Given the description of an element on the screen output the (x, y) to click on. 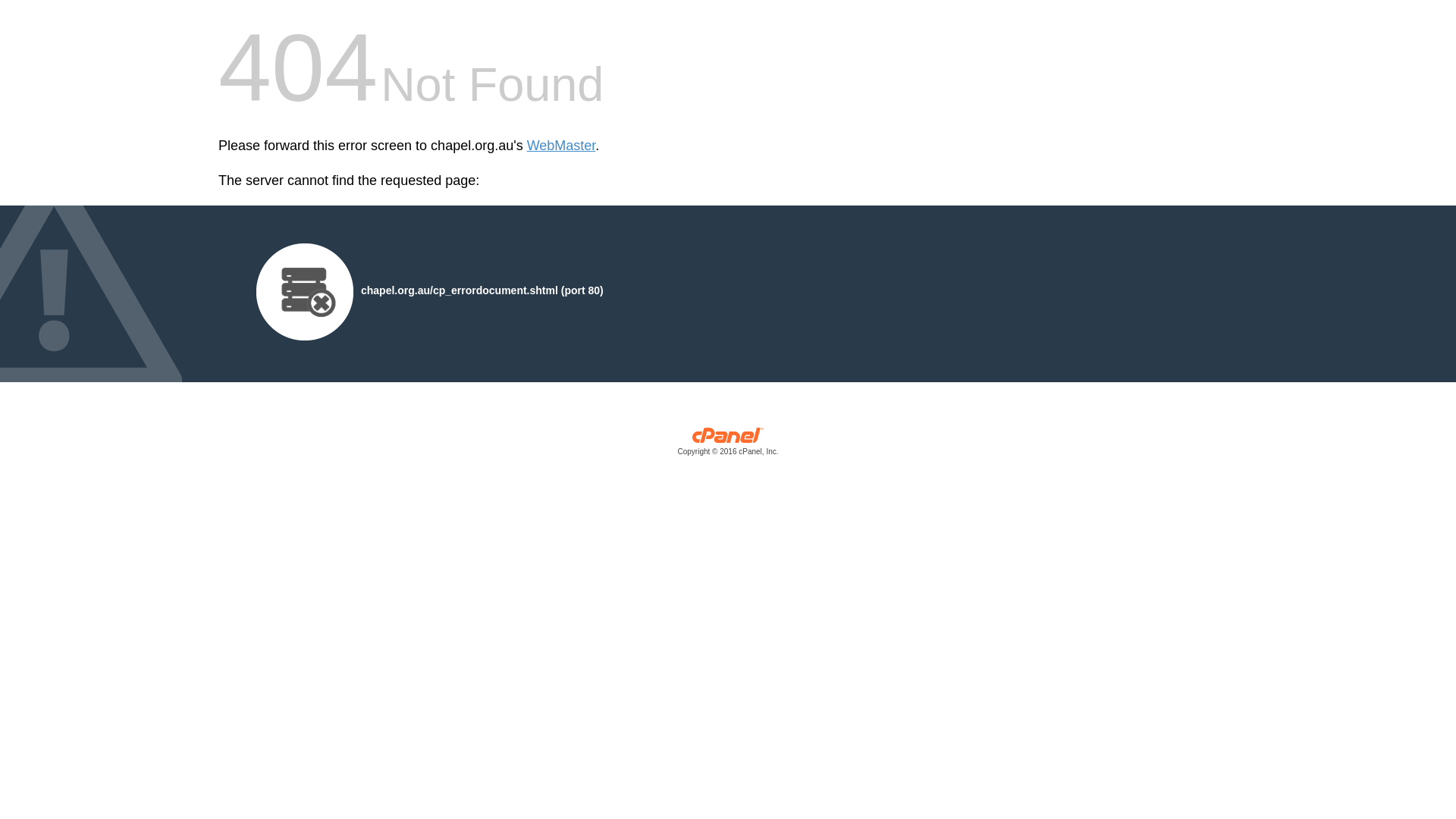
WebMaster Element type: text (561, 145)
